Given the description of an element on the screen output the (x, y) to click on. 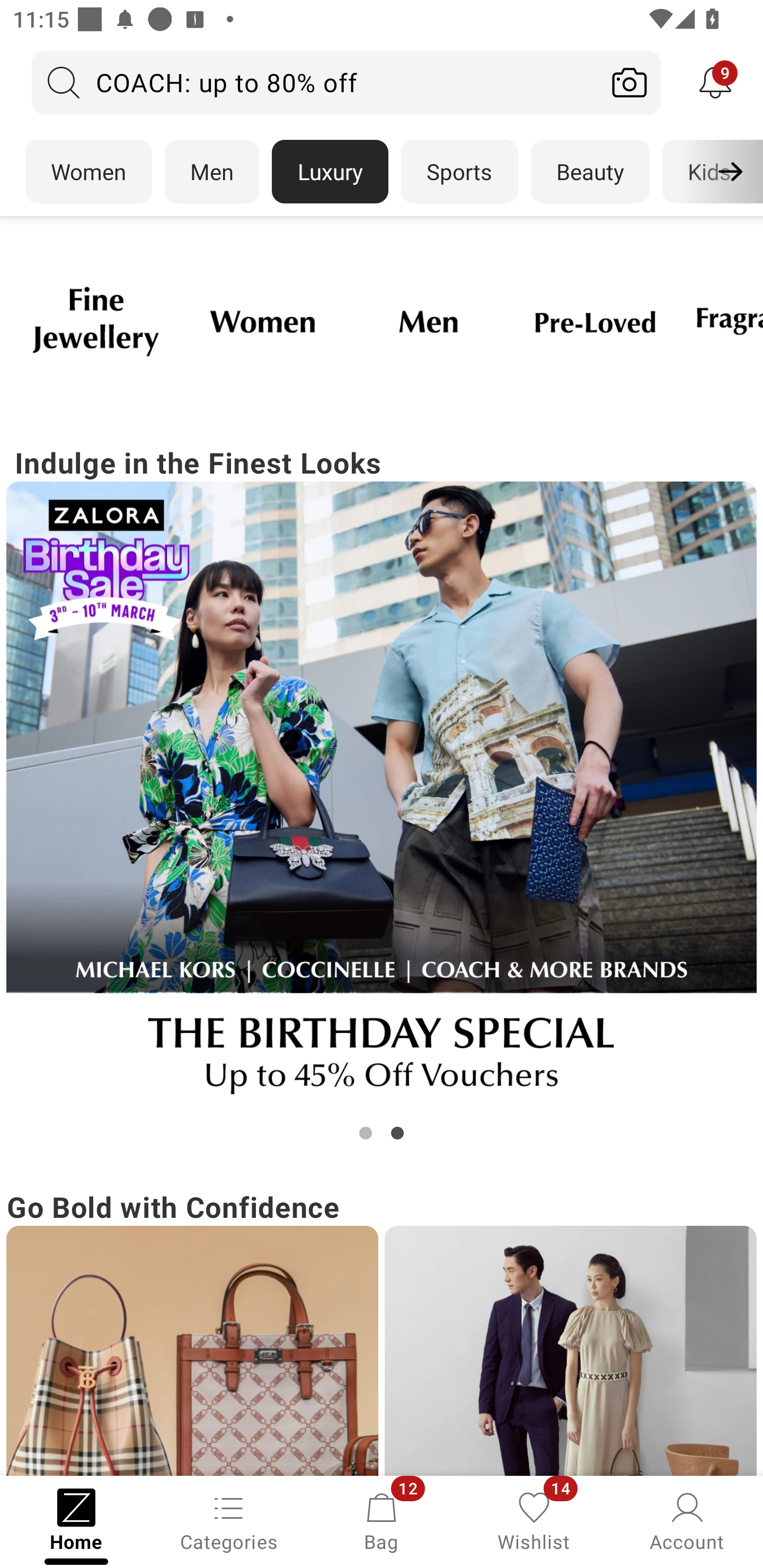
COACH: up to 80% off (314, 82)
Women (88, 171)
Men (211, 171)
Luxury (329, 171)
Sports (459, 171)
Beauty (590, 171)
Campaign banner (95, 321)
Campaign banner (261, 321)
Campaign banner (428, 321)
Campaign banner (594, 321)
 Indulge in the Finest Looks Campaign banner (381, 792)
Campaign banner (381, 797)
Campaign banner (192, 1350)
Campaign banner (570, 1350)
Categories (228, 1519)
Bag, 12 new notifications Bag (381, 1519)
Wishlist, 14 new notifications Wishlist (533, 1519)
Account (686, 1519)
